Given the description of an element on the screen output the (x, y) to click on. 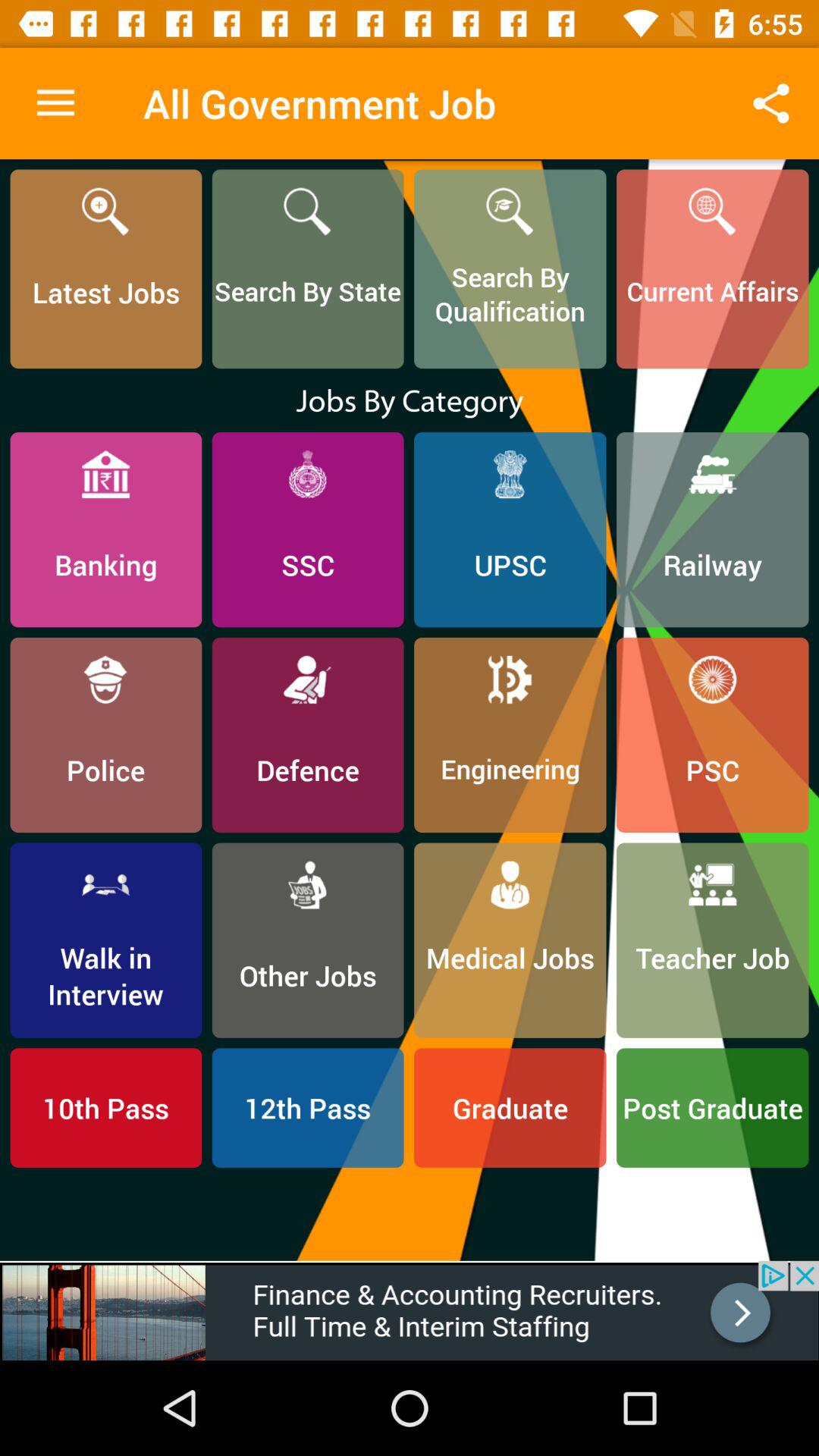
adiveristment (409, 1310)
